Given the description of an element on the screen output the (x, y) to click on. 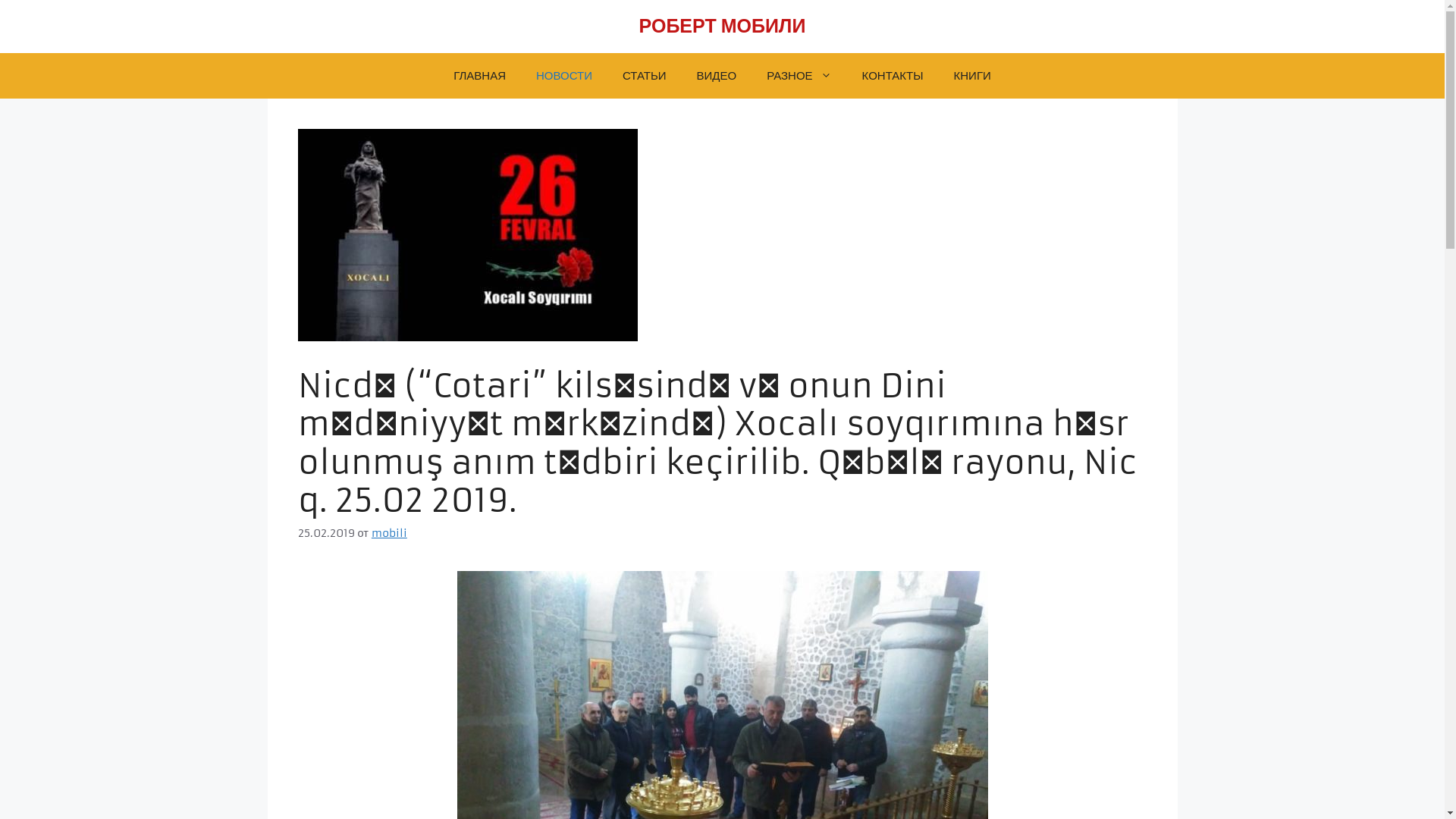
mobili Element type: text (389, 532)
